Given the description of an element on the screen output the (x, y) to click on. 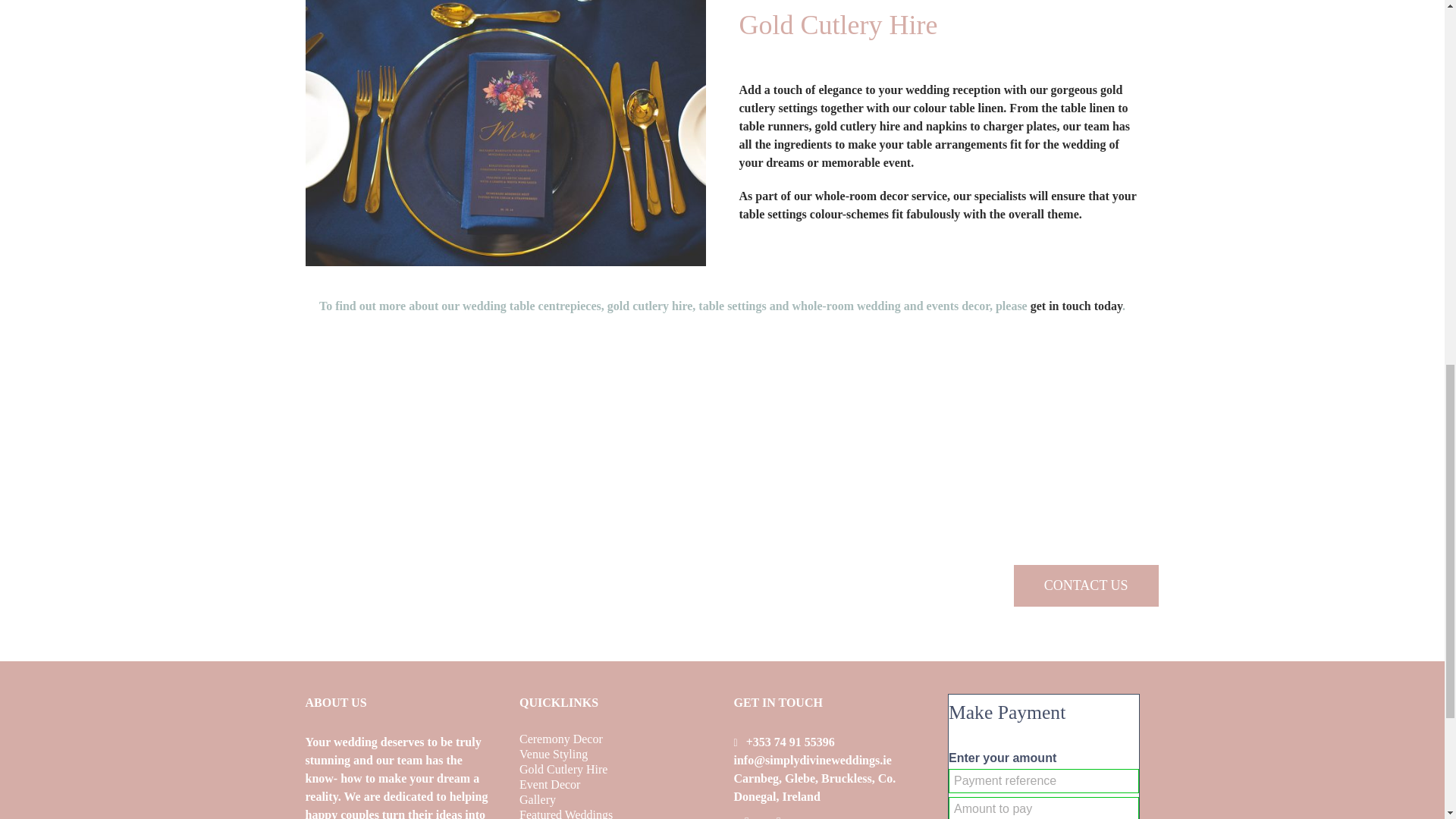
Featured Weddings (615, 814)
Centrepiece3 (504, 133)
Instagram (778, 814)
Page 1 (1085, 473)
Page 2 (721, 306)
Ceremony Decor (615, 739)
Gold Cutlery Hire (615, 769)
Page 8 (938, 152)
Page 2 (400, 776)
get in touch today (1076, 305)
